Given the description of an element on the screen output the (x, y) to click on. 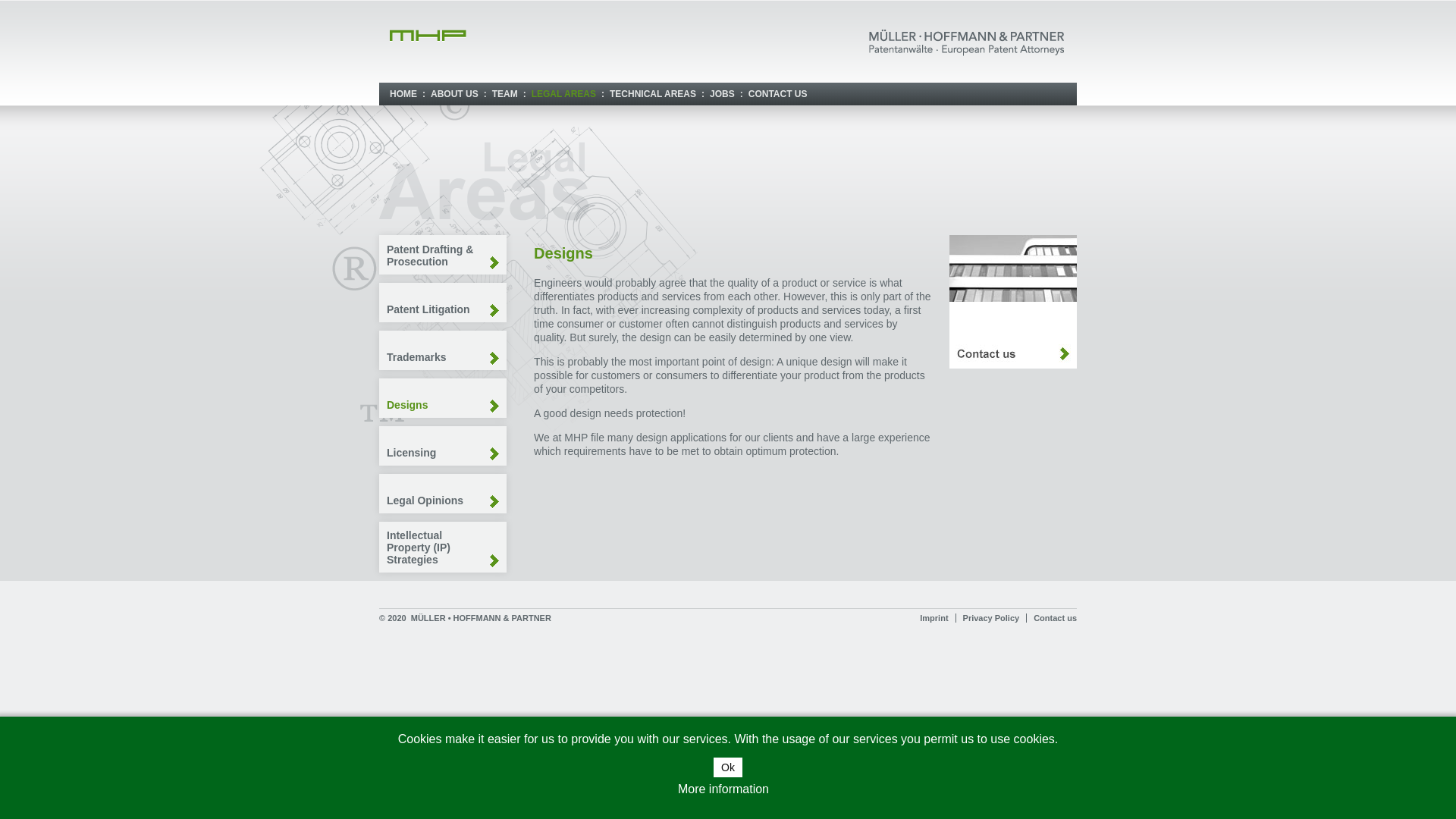
Contact us (1013, 364)
Trademarks (442, 350)
TEAM (502, 93)
JOBS (720, 93)
HOME (400, 93)
CONTACT US (775, 93)
LEGAL AREAS (561, 93)
ABOUT US (452, 93)
Patent Litigation (442, 302)
Licensing (442, 445)
